Given the description of an element on the screen output the (x, y) to click on. 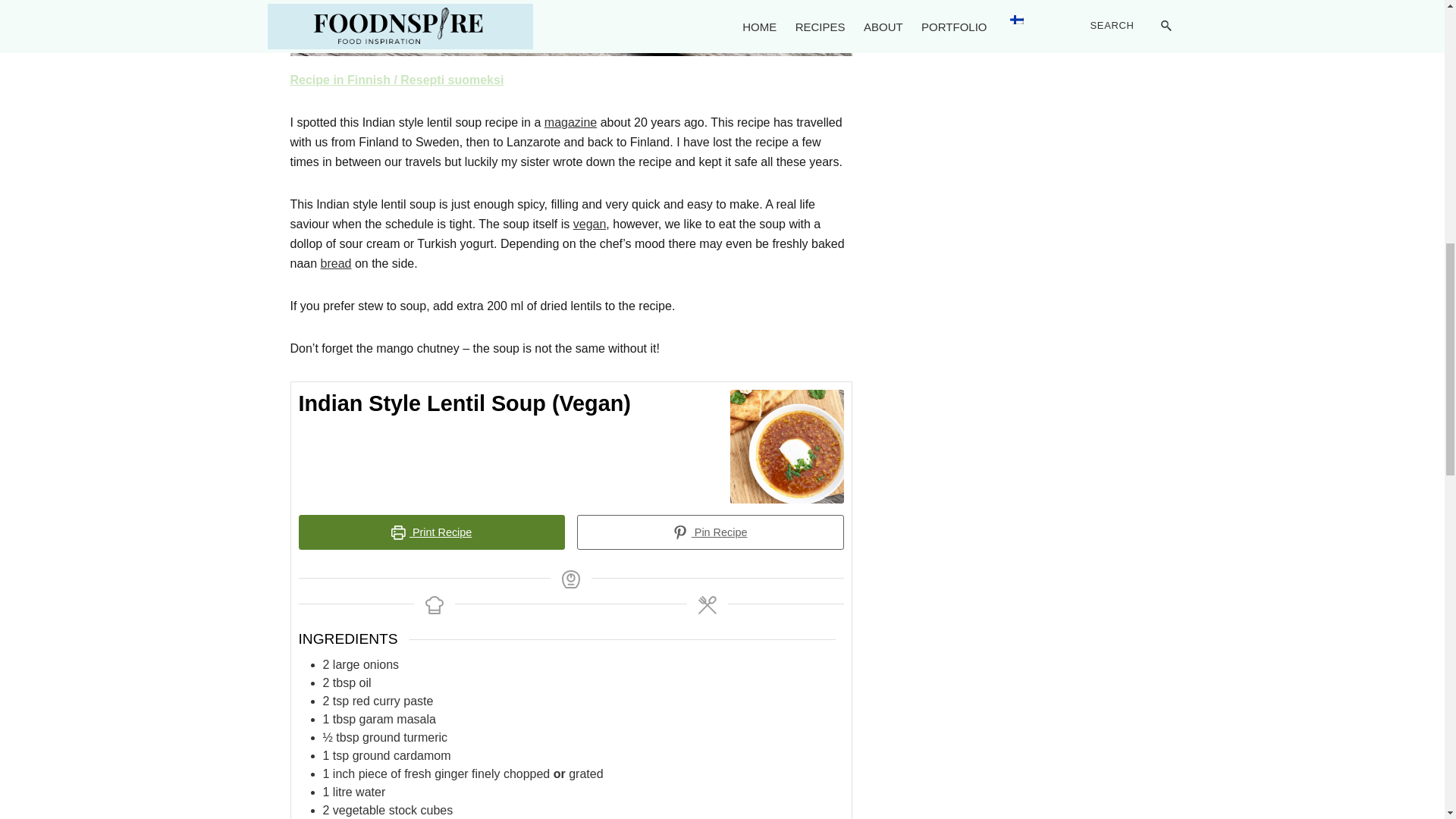
vegan (590, 223)
magazine (570, 122)
bread (336, 263)
Print Recipe (432, 532)
Pin Recipe (710, 532)
